Given the description of an element on the screen output the (x, y) to click on. 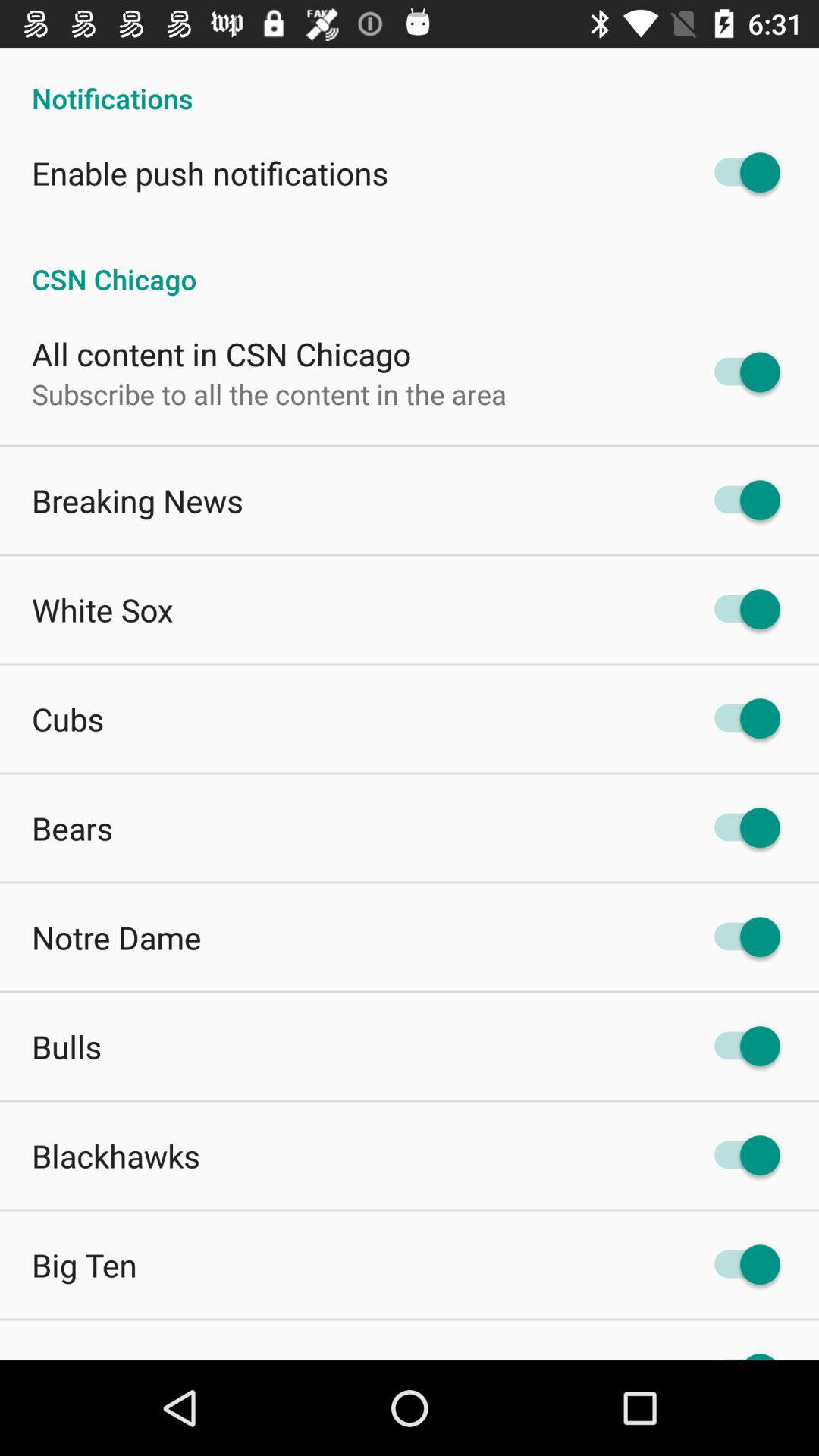
choose subscribe to all (268, 393)
